Given the description of an element on the screen output the (x, y) to click on. 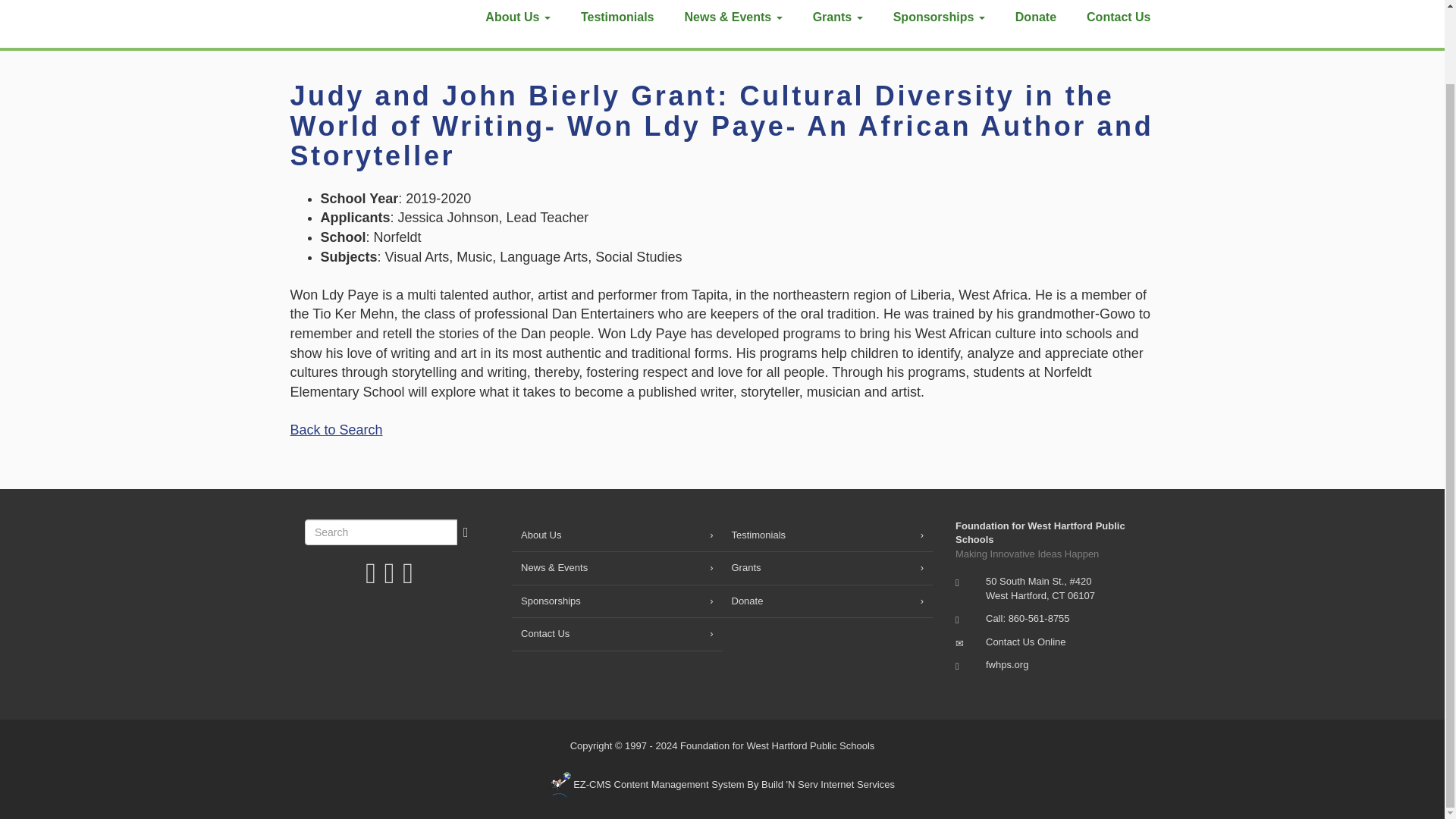
Sponsorships  (938, 23)
Grants  (837, 23)
Build 'N Serv Internet Services (722, 784)
Contact Us (1025, 641)
About Us (617, 535)
About Us  (518, 23)
Back to Search (335, 429)
Donate (1035, 23)
Contact Us (1118, 23)
Call Us (1039, 618)
